Given the description of an element on the screen output the (x, y) to click on. 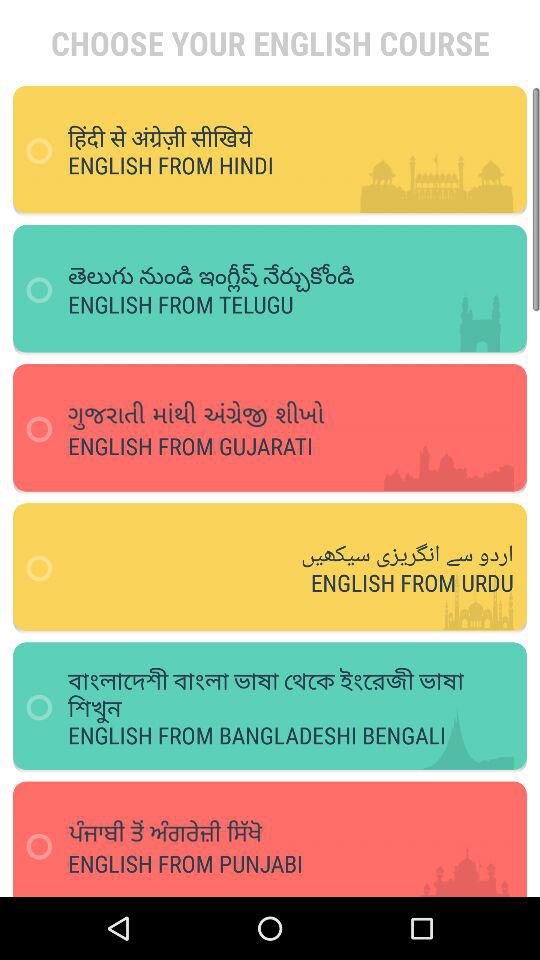
click on the text which says english from urdu (382, 601)
click on radio button which is left of english from bangladeshi bengali (45, 707)
select the sixth option (277, 831)
select the 1st check box (45, 151)
